Given the description of an element on the screen output the (x, y) to click on. 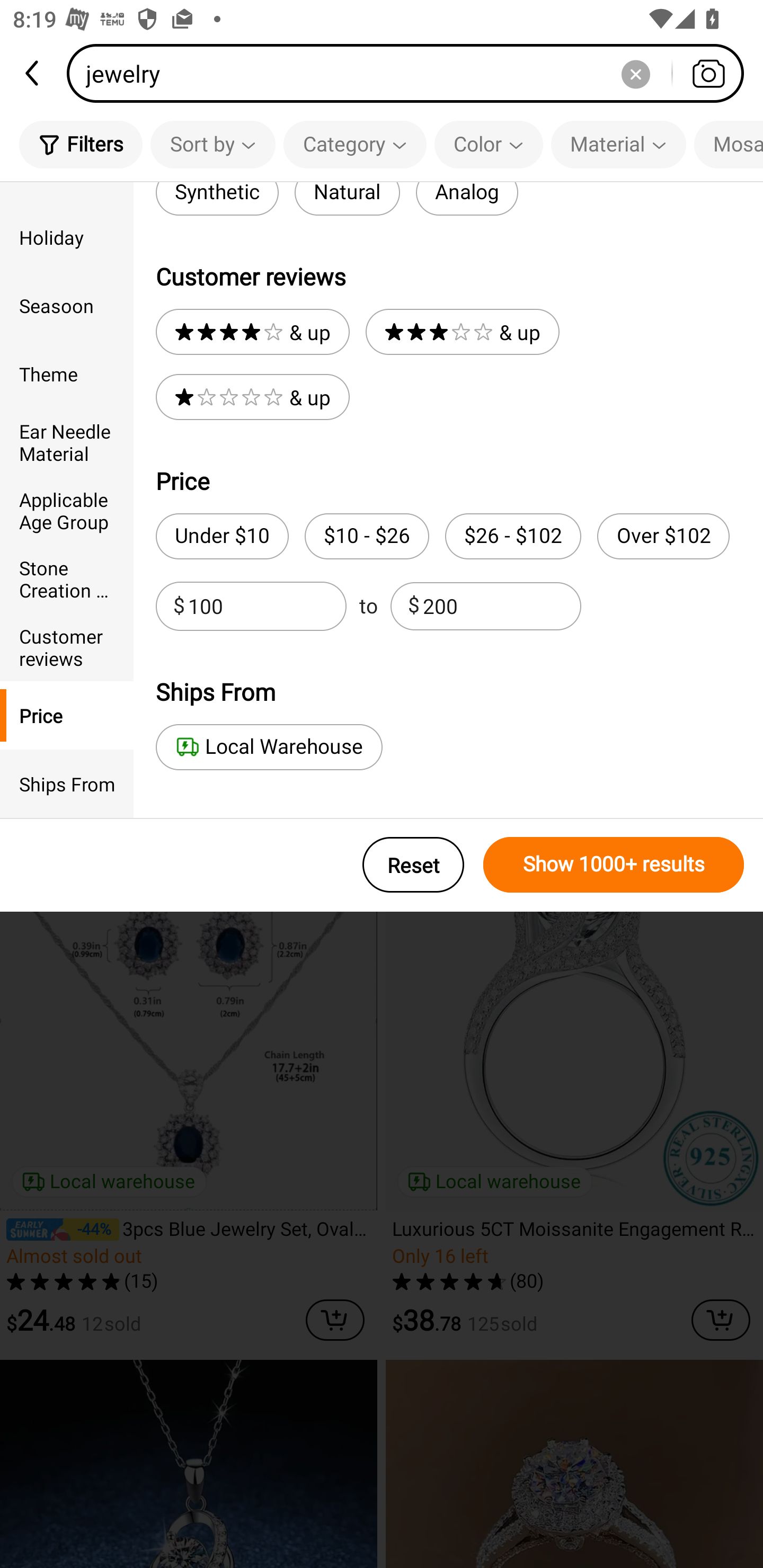
back (33, 72)
jewelry (411, 73)
Delete search history (635, 73)
Search by photo (708, 73)
Filters (80, 143)
Sort by (212, 143)
Category (354, 143)
Color (488, 143)
Material (617, 143)
Mosaic Material (728, 143)
Synthetic (216, 198)
Natural (346, 198)
Analog (466, 198)
Holiday (66, 236)
Seasoon (66, 305)
& up (252, 331)
& up (462, 331)
Theme (66, 373)
& up (252, 397)
Ear Needle Material (66, 441)
